Given the description of an element on the screen output the (x, y) to click on. 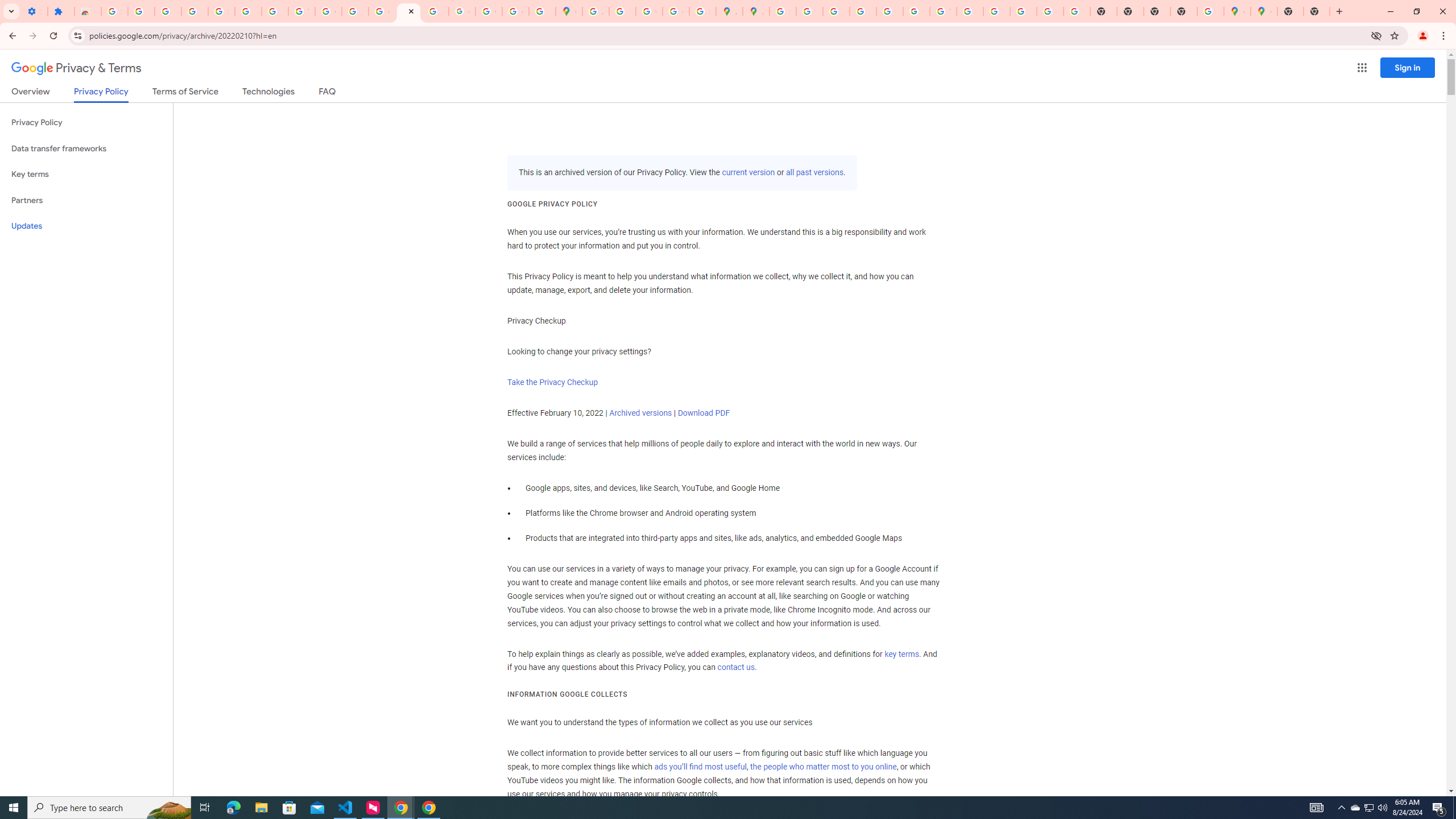
all past versions (813, 172)
Archived versions (640, 412)
contact us (735, 667)
Create your Google Account (649, 11)
New Tab (1290, 11)
the people who matter most to you online (822, 766)
New Tab (1183, 11)
Delete photos & videos - Computer - Google Photos Help (141, 11)
Extensions (61, 11)
